Given the description of an element on the screen output the (x, y) to click on. 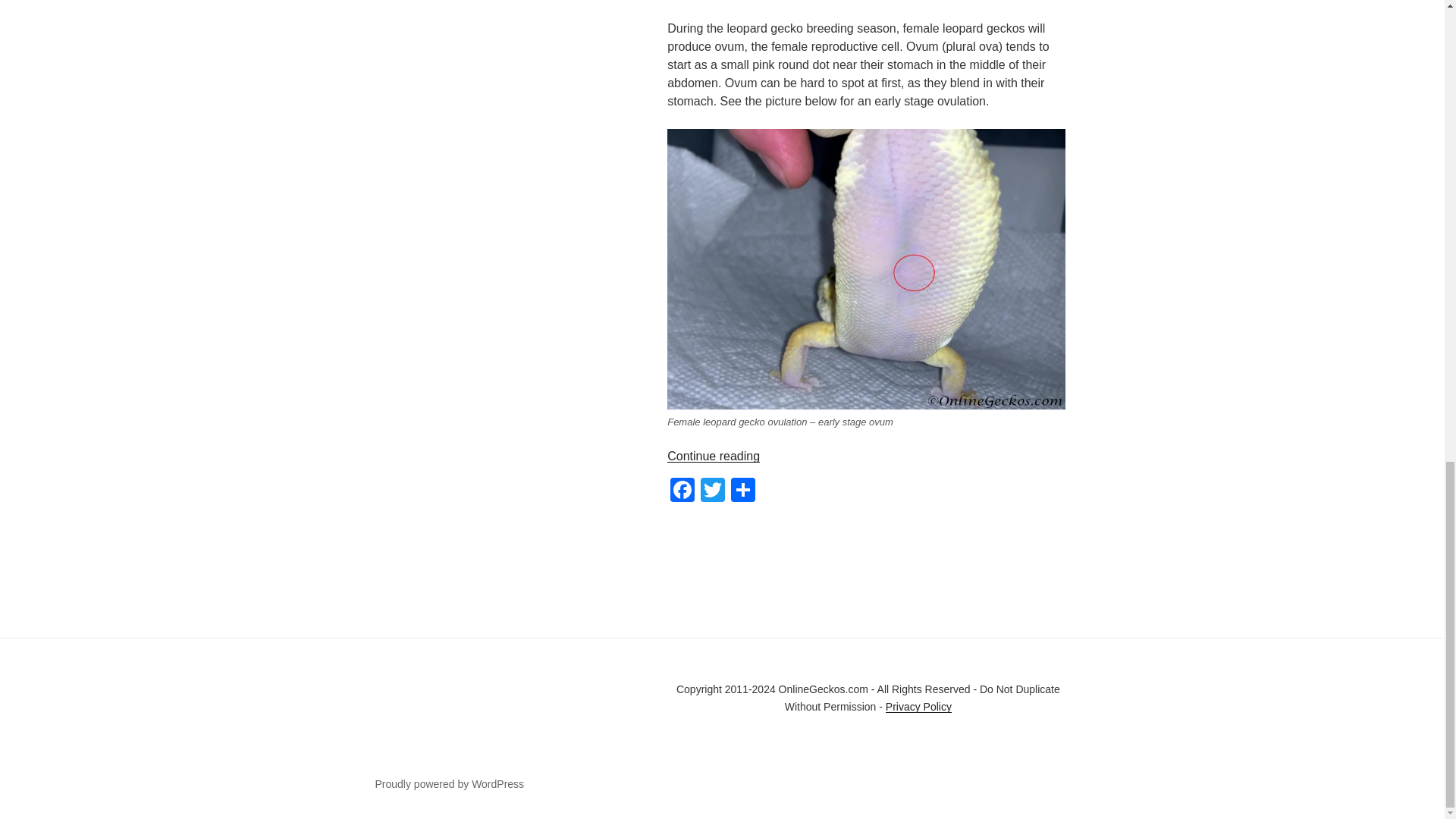
Twitter (712, 491)
Proudly powered by WordPress (449, 784)
Facebook (681, 491)
Facebook (681, 491)
Twitter (712, 491)
Privacy Policy (918, 706)
